Given the description of an element on the screen output the (x, y) to click on. 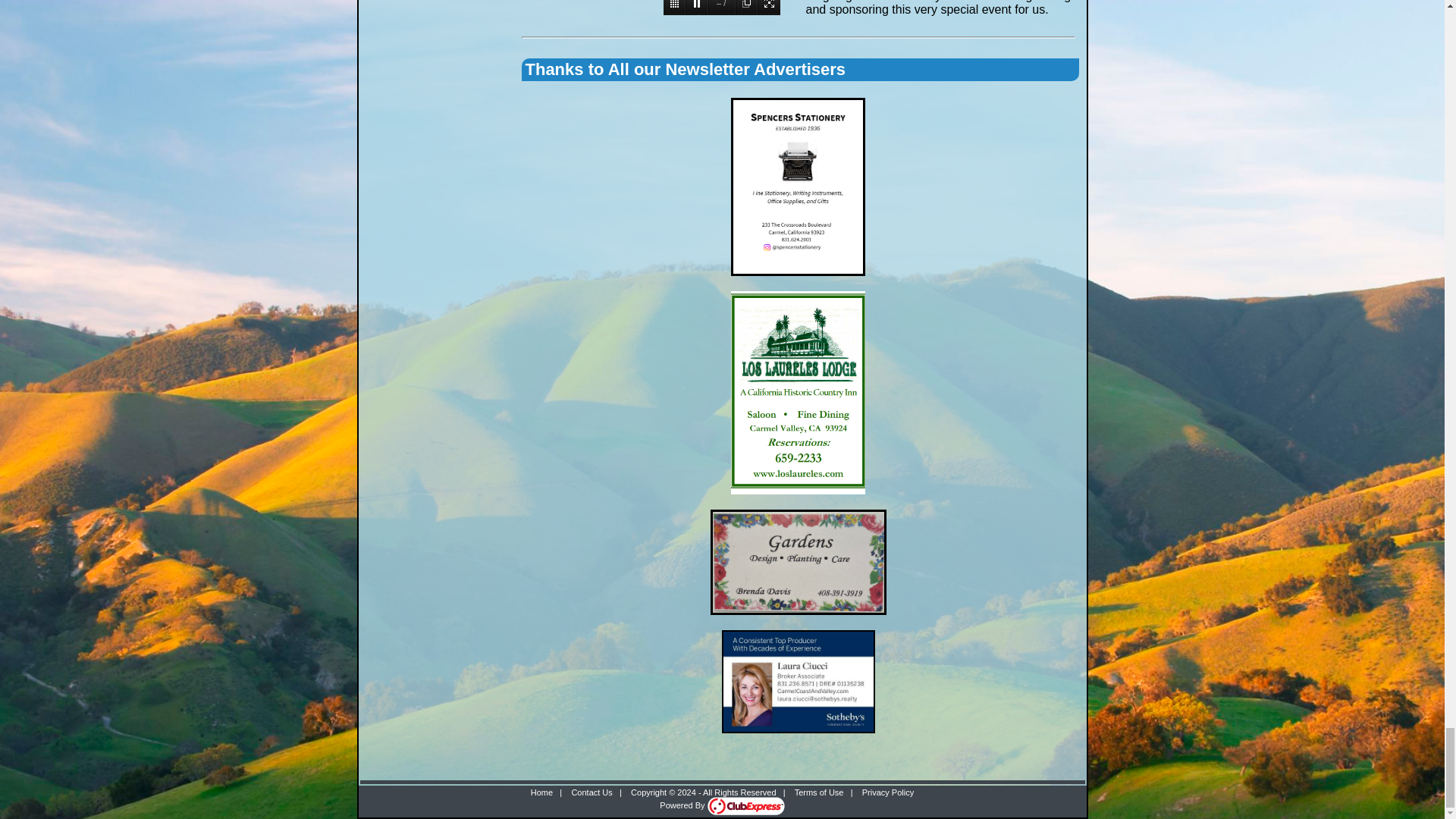
Powered By  (721, 804)
Home (542, 791)
Contact Us (590, 791)
Terms of Use (819, 791)
Privacy Policy (887, 791)
